Given the description of an element on the screen output the (x, y) to click on. 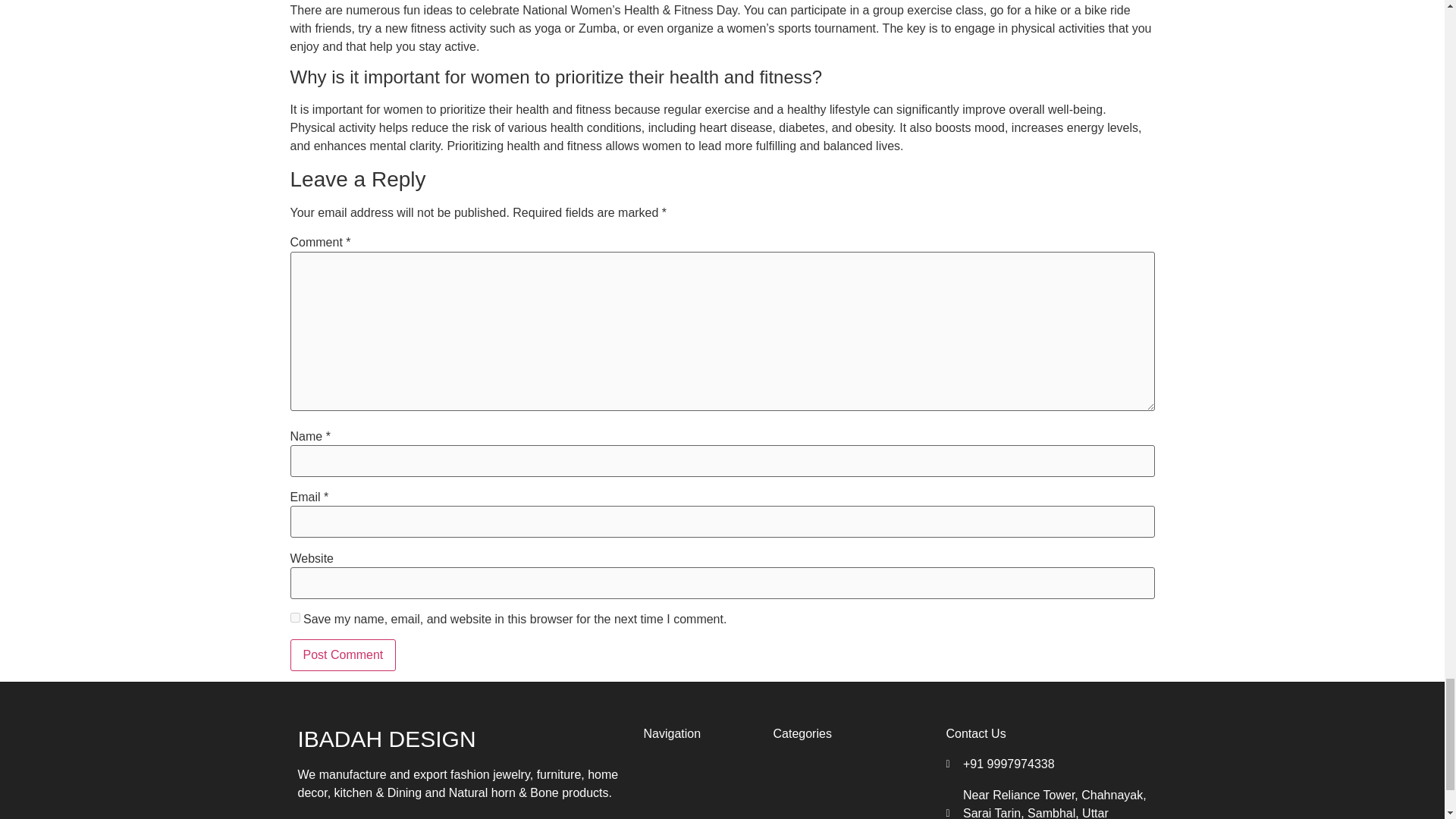
Post Comment (342, 654)
yes (294, 617)
